Given the description of an element on the screen output the (x, y) to click on. 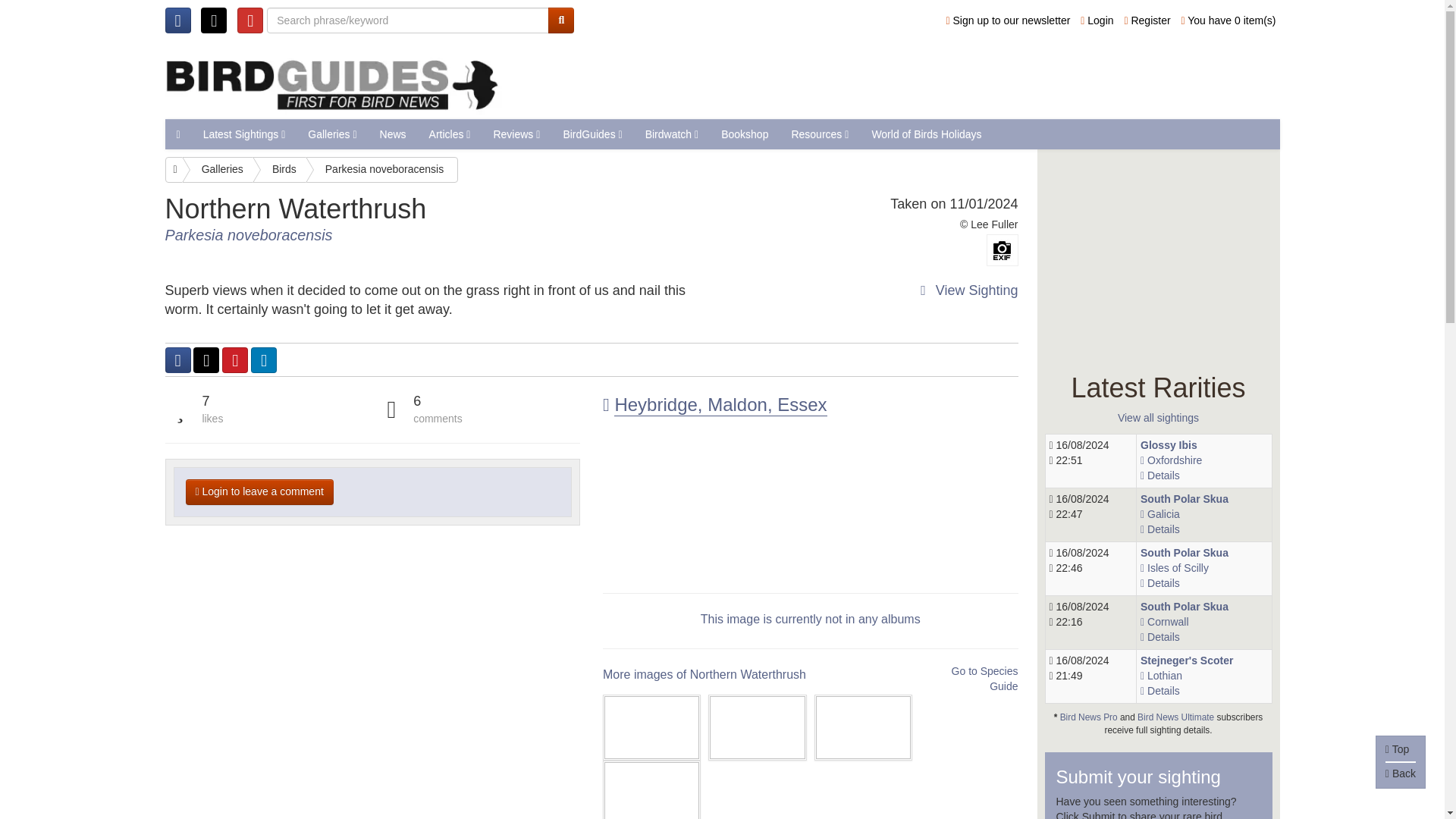
View Northern Waterthrush (372, 217)
Articles (449, 133)
3rd party ad content (1158, 255)
Sign up to our newsletter (1008, 20)
View EXIF data for this image (1001, 250)
Galleries (332, 133)
Contributed by Lee Fuller (994, 224)
Latest Sightings (244, 133)
News (392, 133)
3rd party ad content (911, 79)
